Given the description of an element on the screen output the (x, y) to click on. 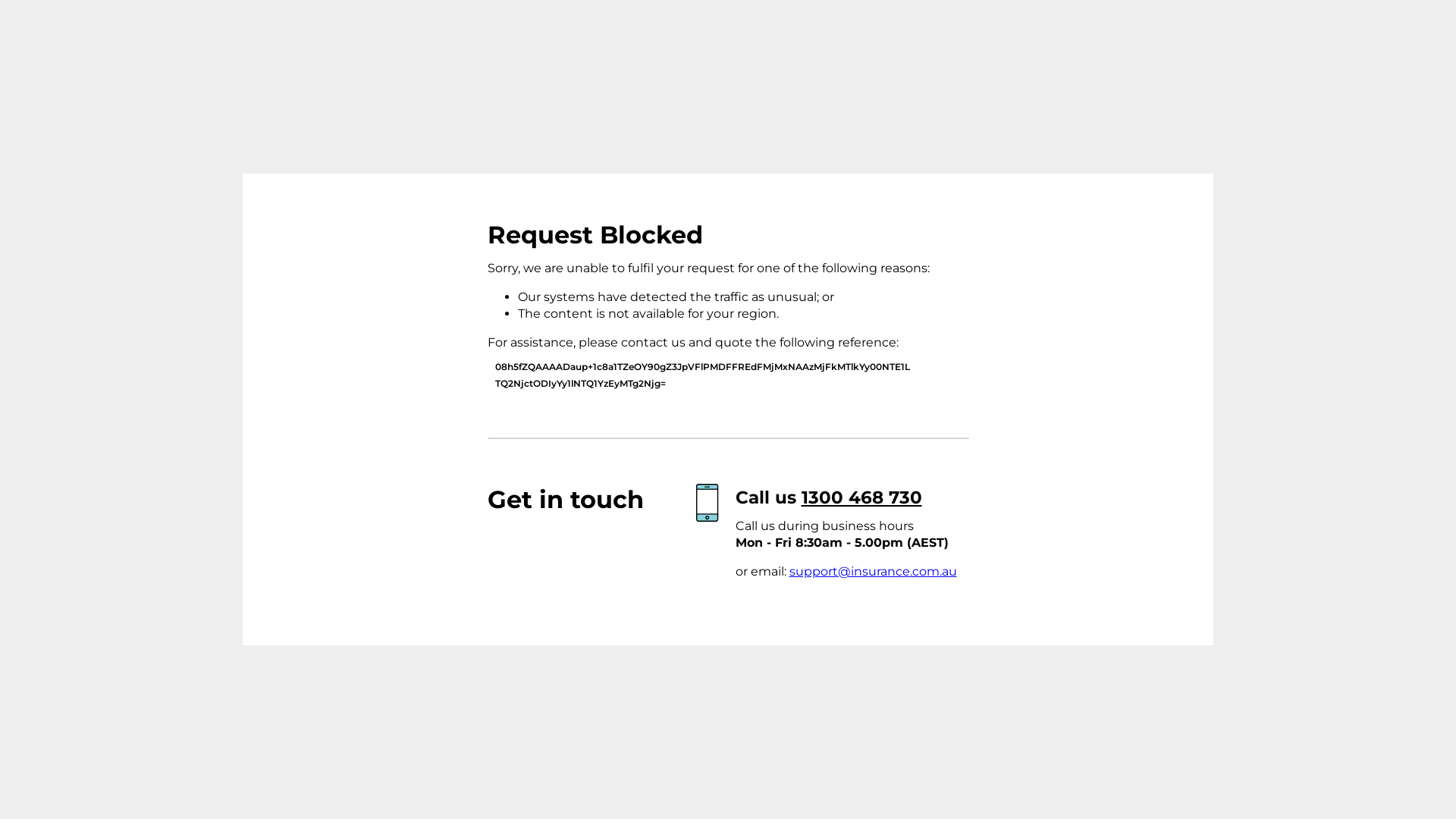
Insurance.com.au Element type: text (377, 264)
1300 468 730 Element type: text (860, 497)
support@insurance.com.au Element type: text (872, 571)
